Given the description of an element on the screen output the (x, y) to click on. 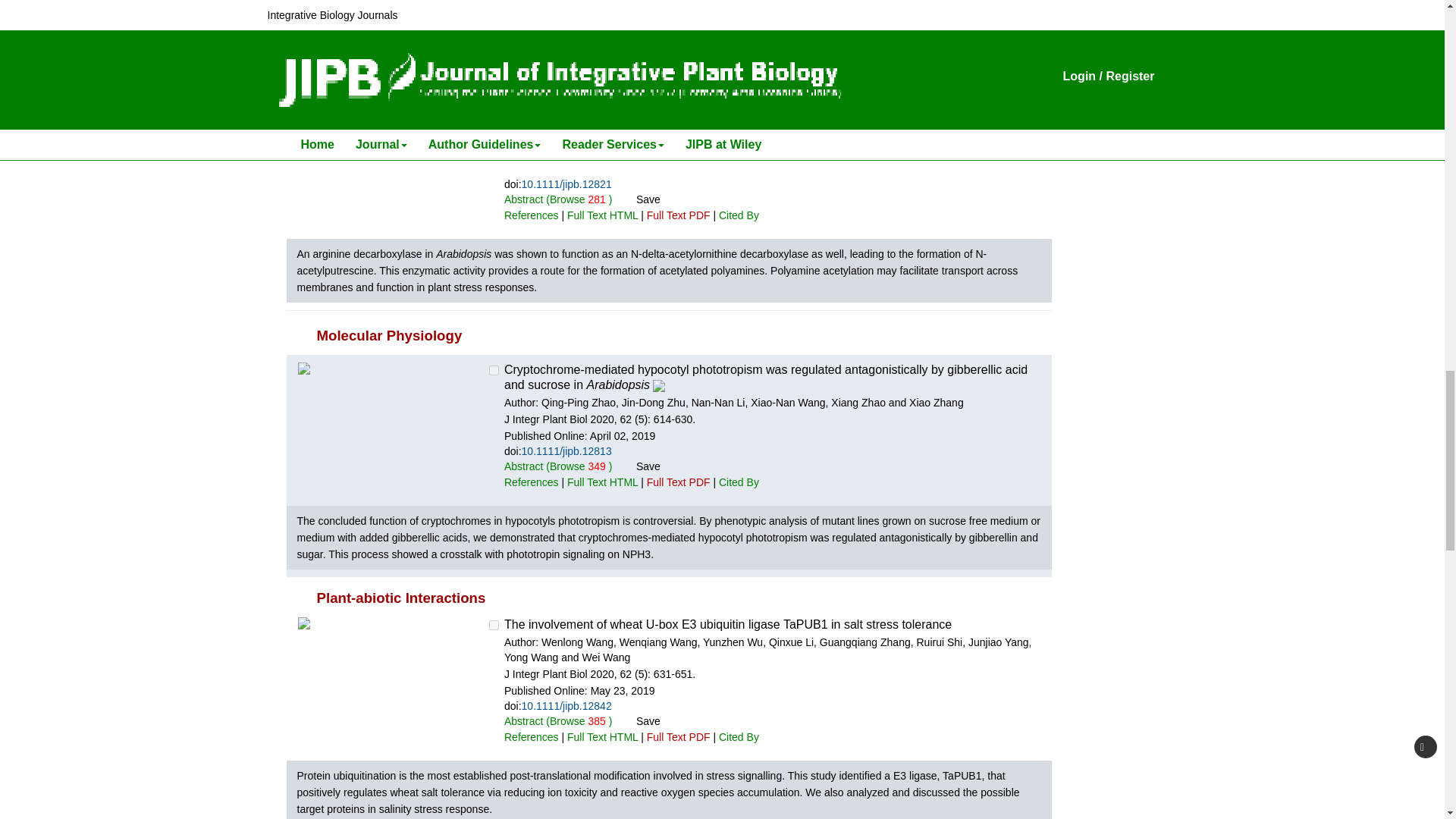
59913 (494, 103)
59940 (494, 624)
59803 (494, 370)
